Given the description of an element on the screen output the (x, y) to click on. 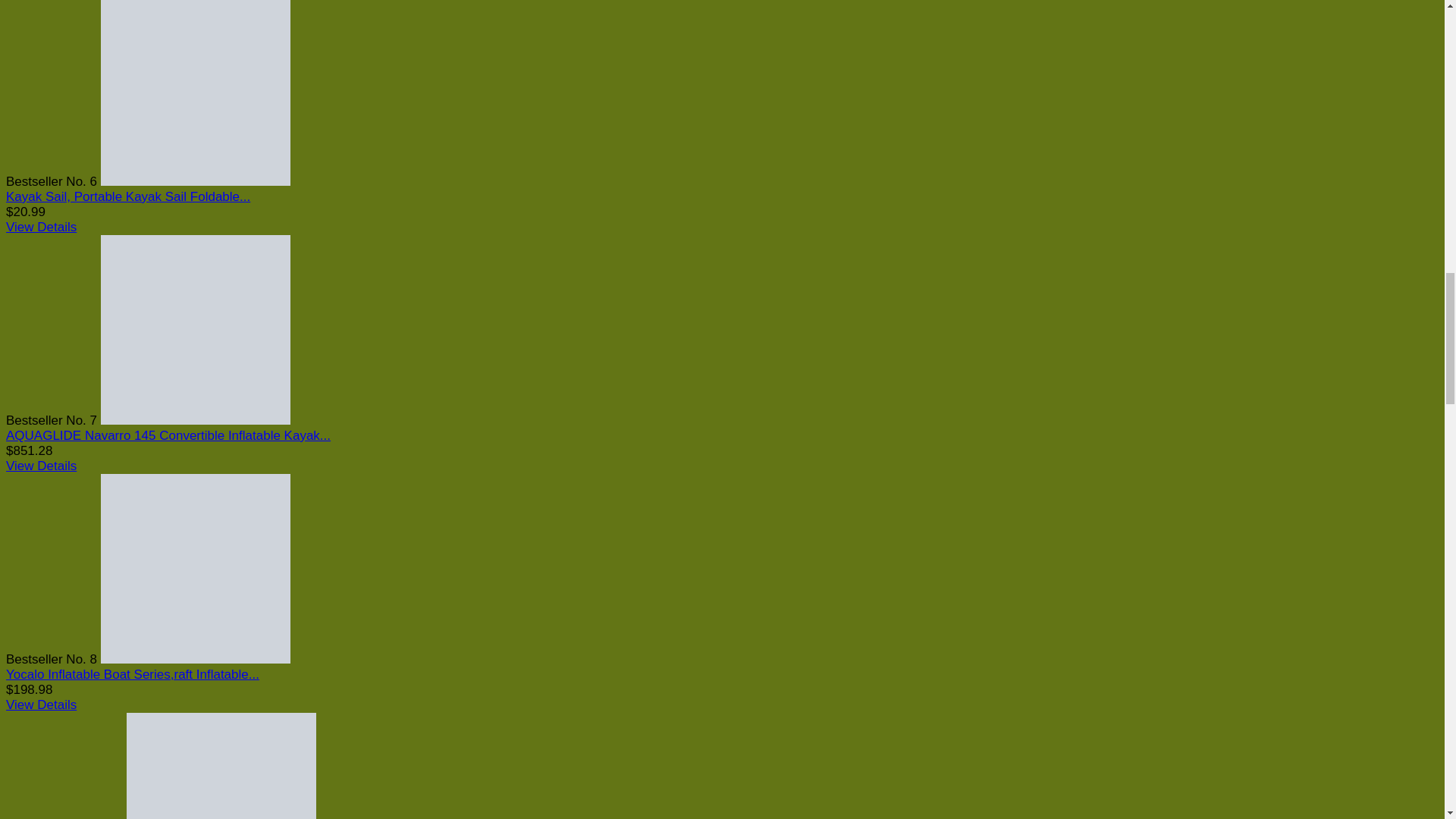
Kayak Sail, Portable Kayak Sail Foldable... (127, 196)
AQUAGLIDE Navarro 145 Convertible Inflatable Kayak... (167, 435)
View Details (41, 227)
View Details (41, 465)
